Given the description of an element on the screen output the (x, y) to click on. 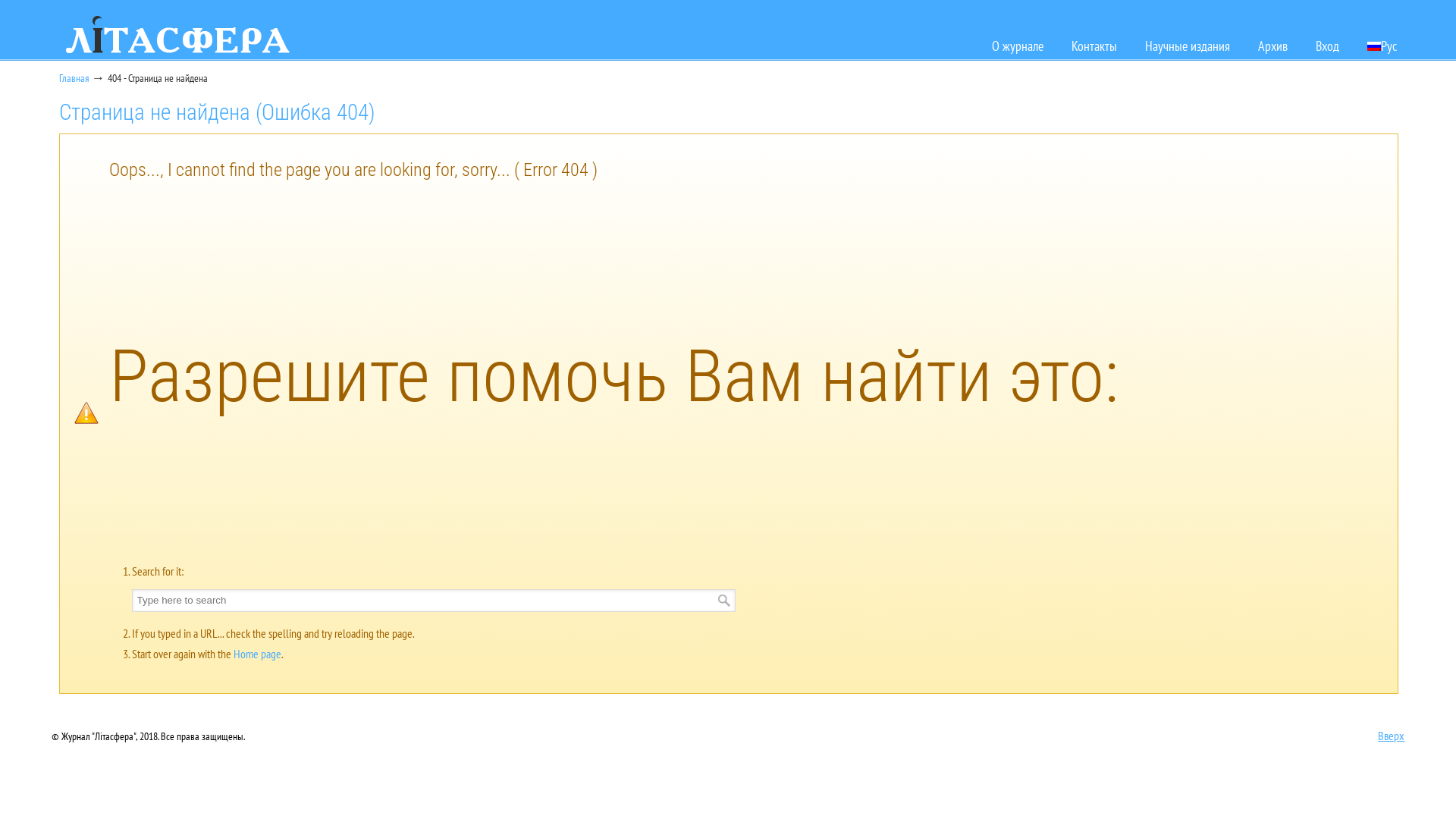
Home page Element type: text (257, 653)
